Given the description of an element on the screen output the (x, y) to click on. 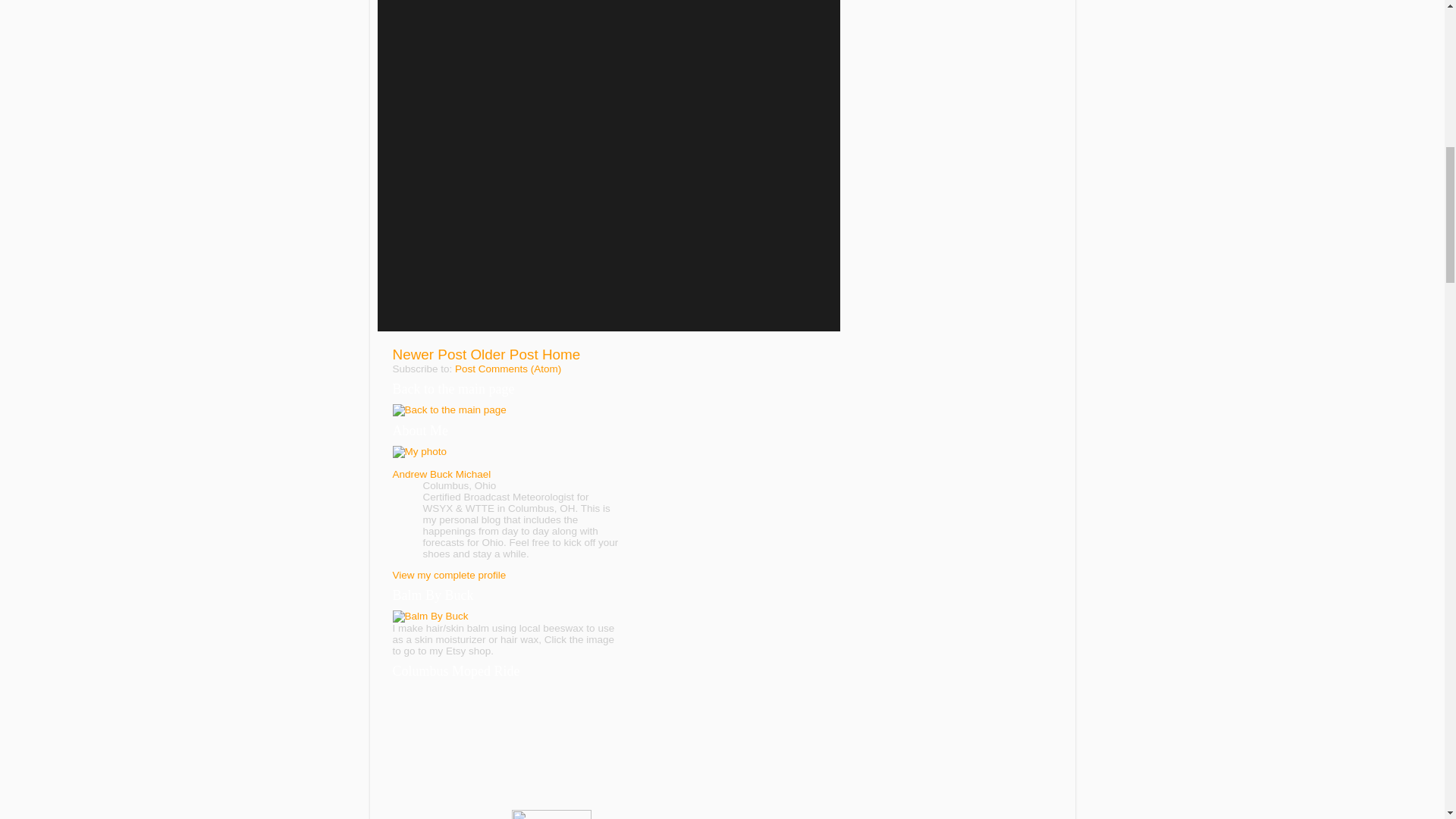
Older Post (503, 354)
Home (560, 354)
View my complete profile (449, 574)
Andrew Buck Michael (442, 473)
Newer Post (430, 354)
Newer Post (430, 354)
Older Post (503, 354)
